Given the description of an element on the screen output the (x, y) to click on. 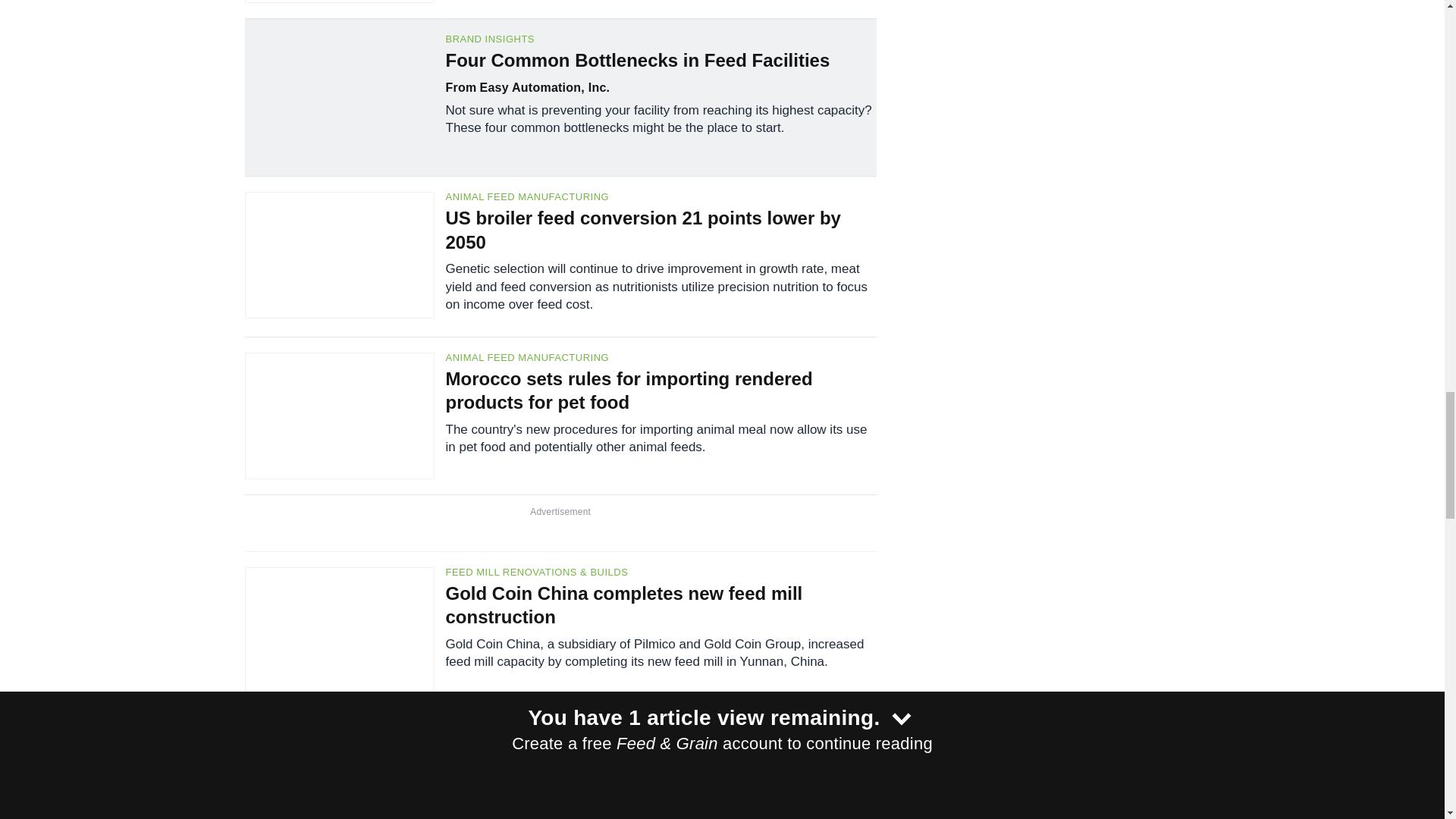
Brand Insights (660, 39)
